Given the description of an element on the screen output the (x, y) to click on. 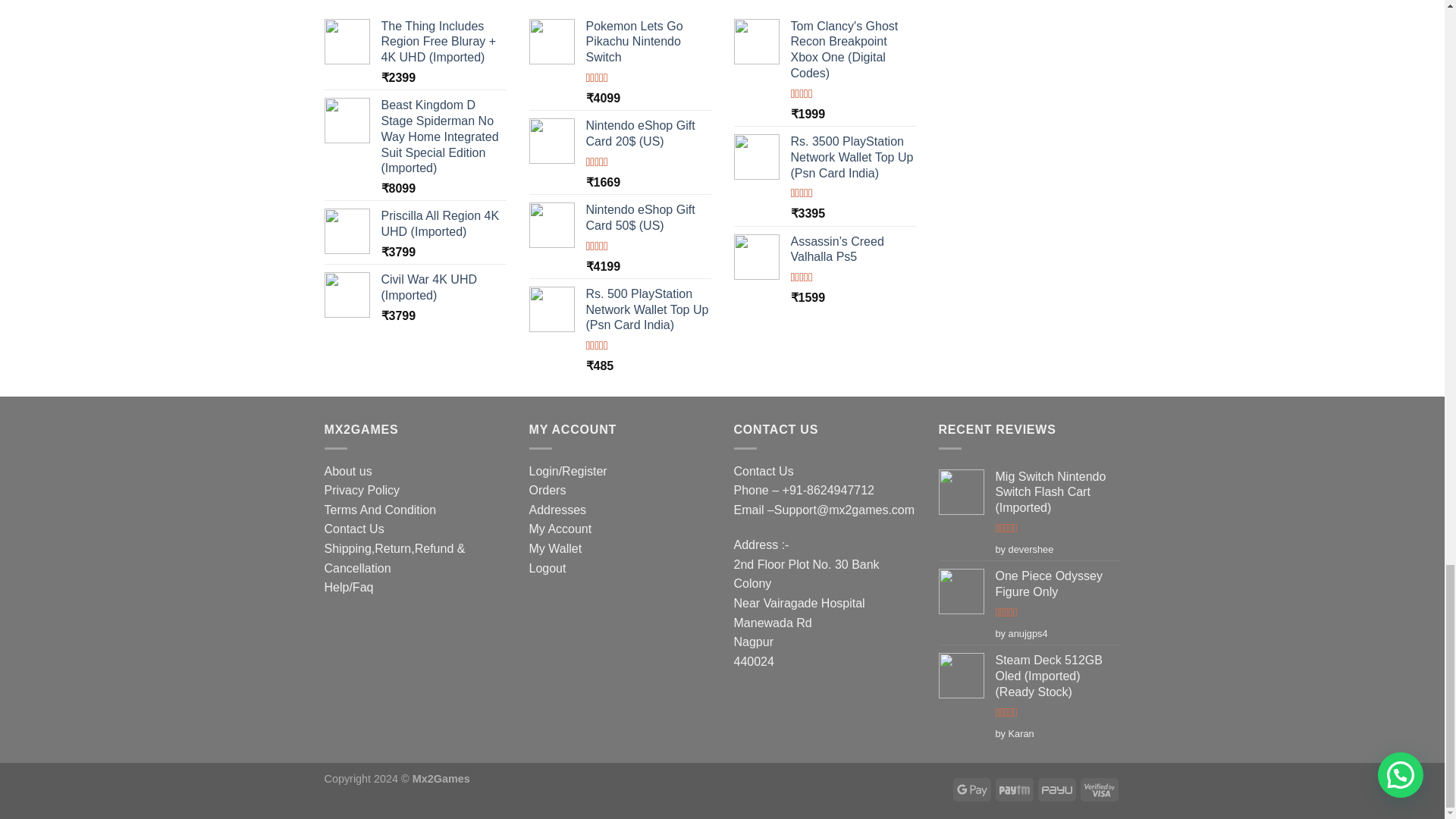
Addresses (557, 509)
Privacy Policy (362, 490)
Contact Us (354, 528)
Terms And Condition (380, 509)
About us (348, 471)
Orders (547, 490)
